Given the description of an element on the screen output the (x, y) to click on. 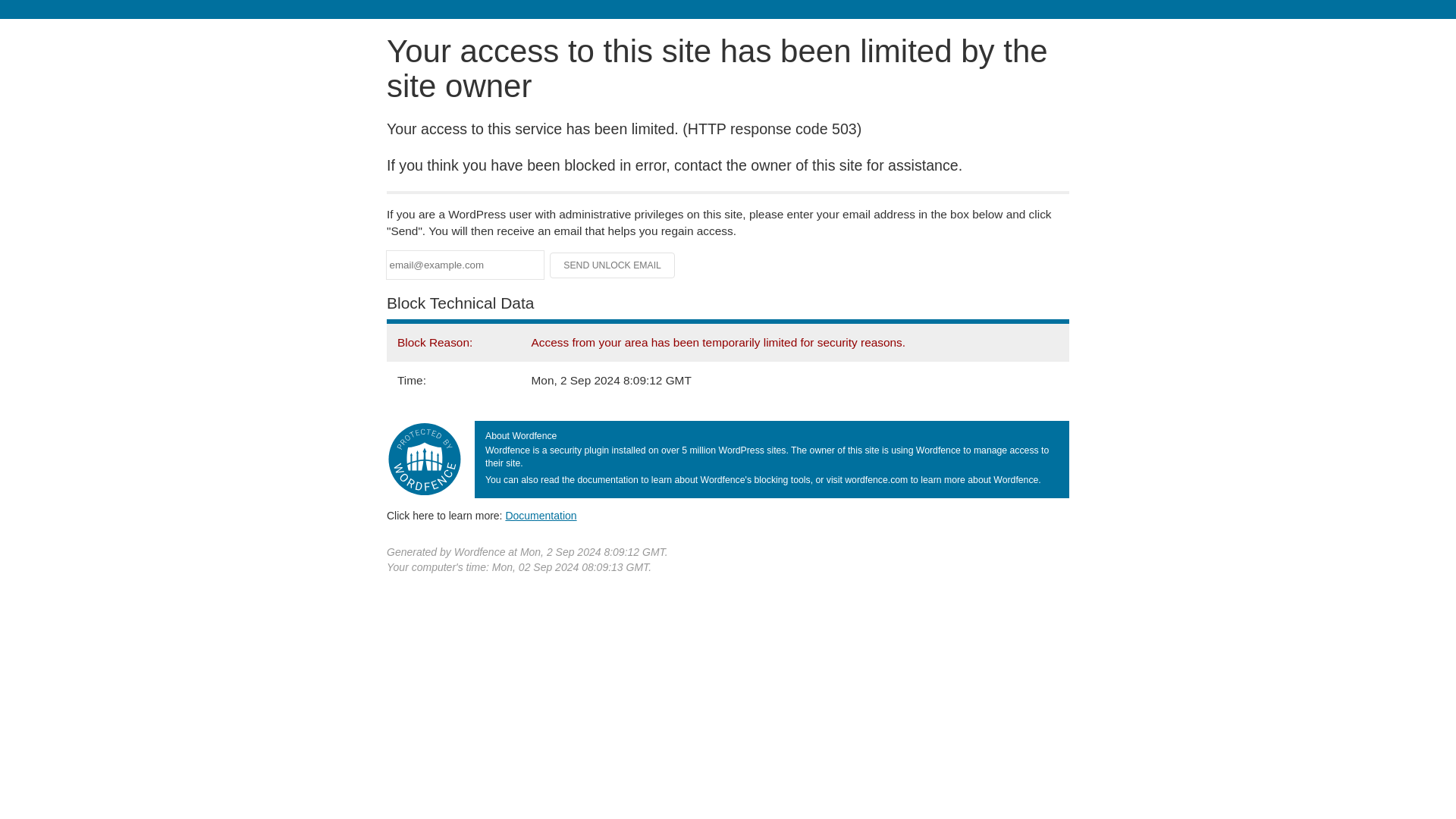
Send Unlock Email (612, 265)
Send Unlock Email (612, 265)
Documentation (540, 515)
